Given the description of an element on the screen output the (x, y) to click on. 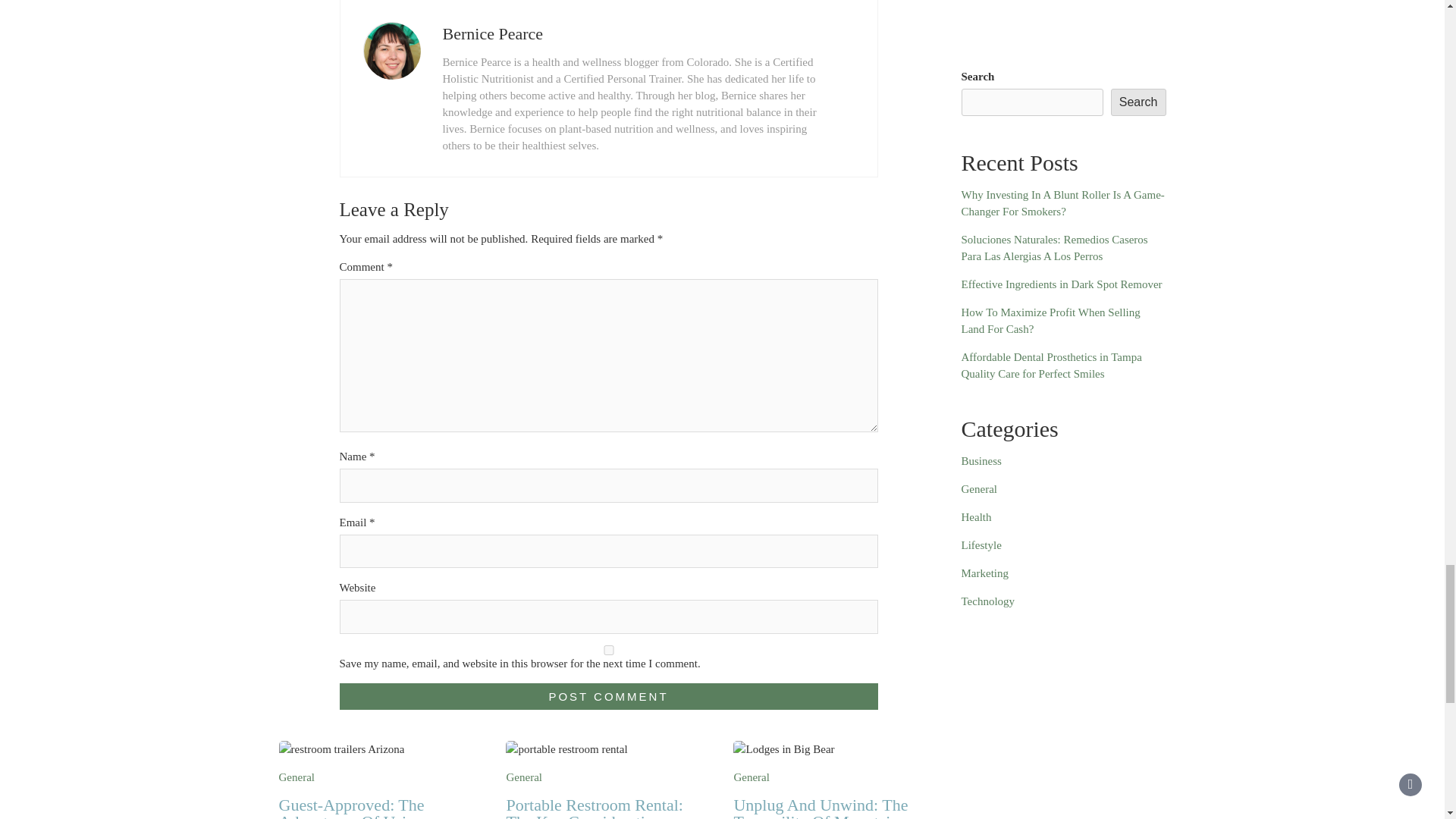
Post Comment (608, 696)
General (523, 776)
Post Comment (608, 696)
General (296, 776)
yes (608, 650)
Bernice Pearce (492, 33)
